Given the description of an element on the screen output the (x, y) to click on. 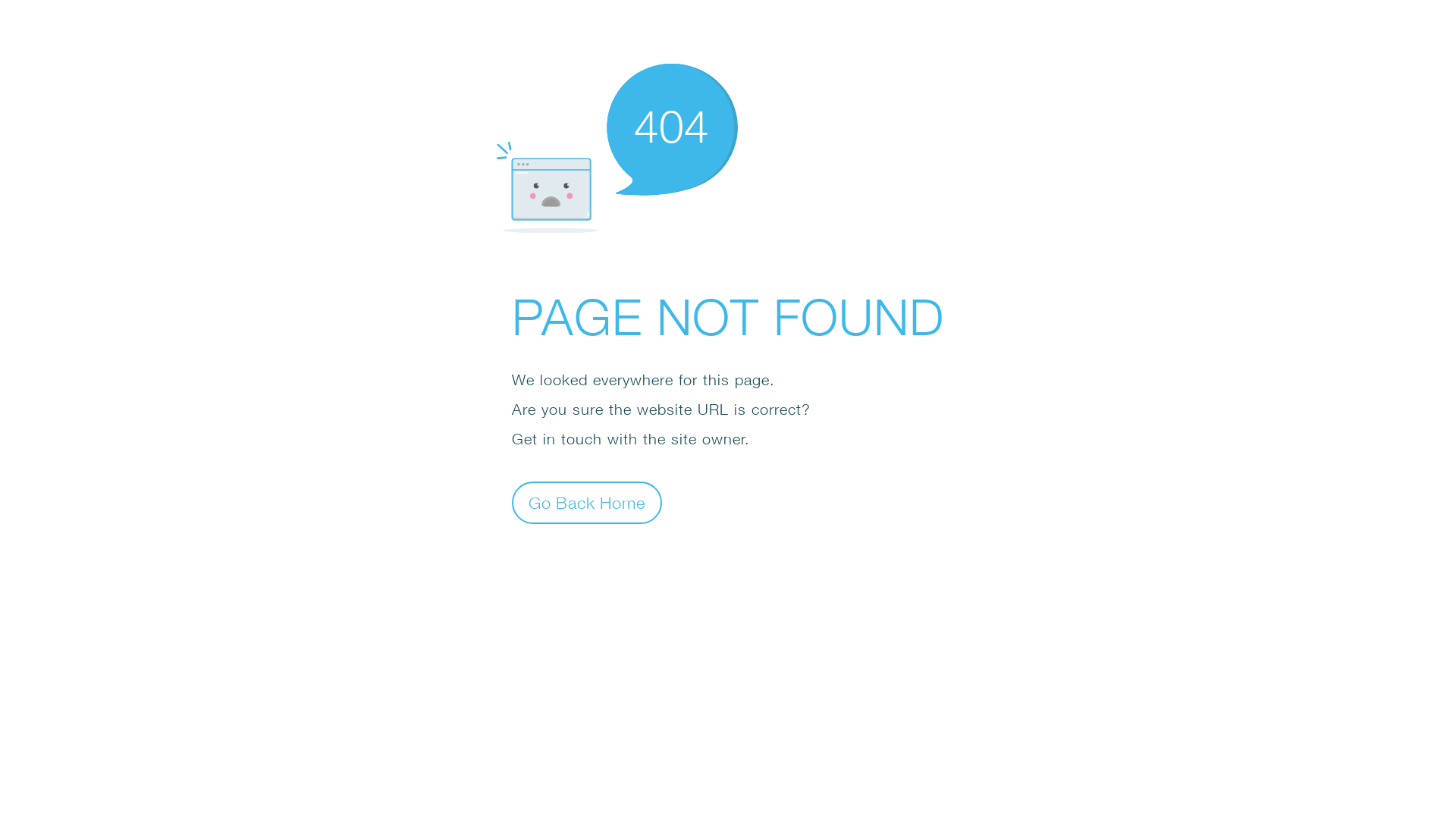
Go Back Home Element type: text (586, 502)
